Given the description of an element on the screen output the (x, y) to click on. 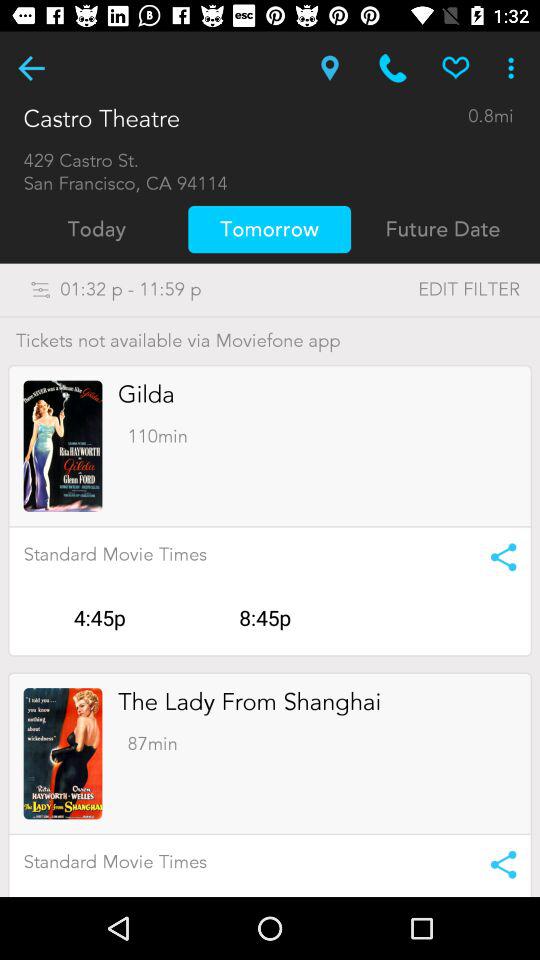
choose the lady from item (249, 702)
